Given the description of an element on the screen output the (x, y) to click on. 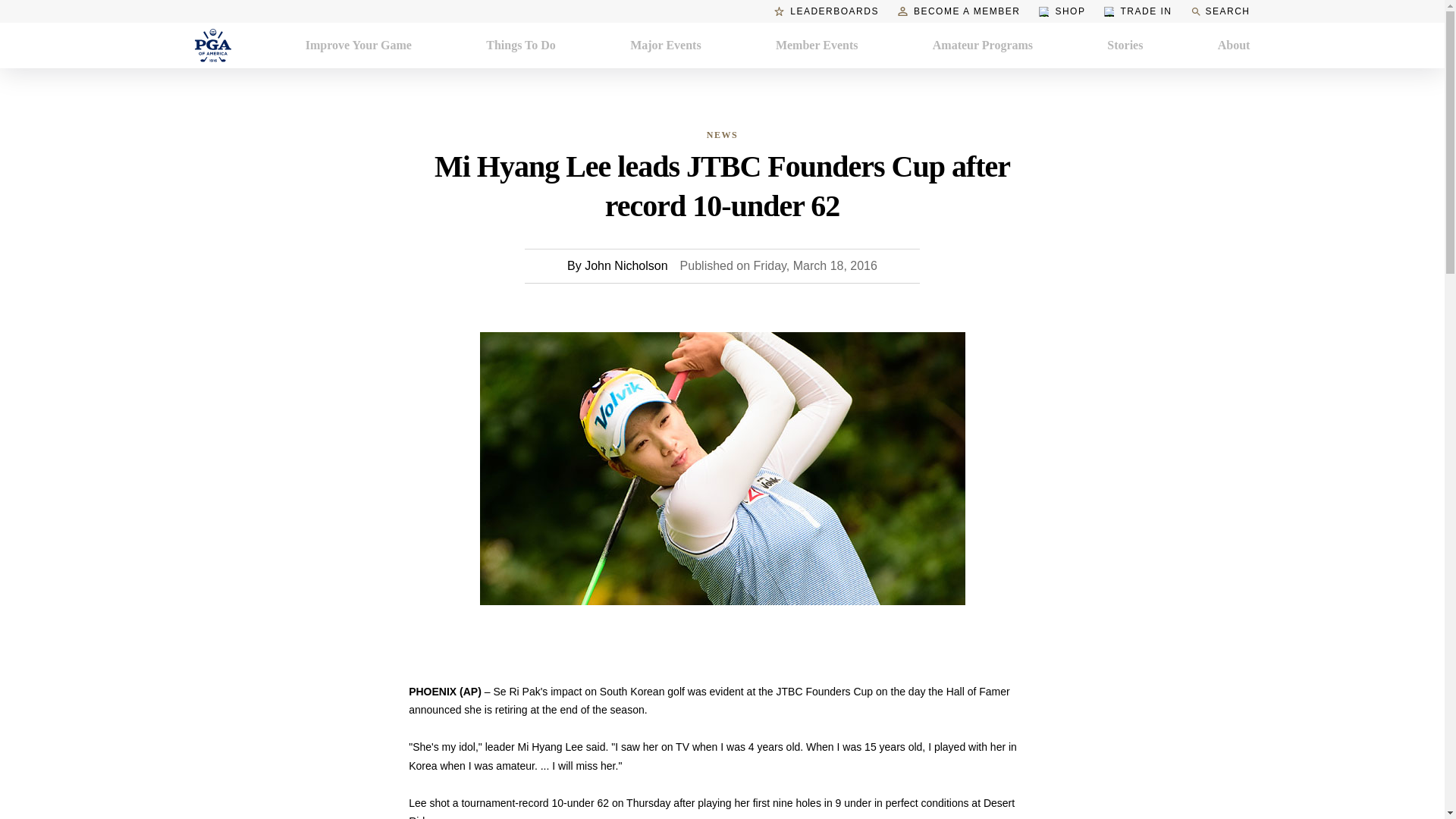
SEARCH (1220, 11)
TRADE IN (1137, 10)
Member Events (817, 44)
Things To Do (521, 44)
SHOP (1061, 10)
BECOME A MEMBER (959, 10)
Major Events (665, 44)
Improve Your Game (358, 44)
Amateur Programs (982, 44)
LEADERBOARDS (826, 10)
